Given the description of an element on the screen output the (x, y) to click on. 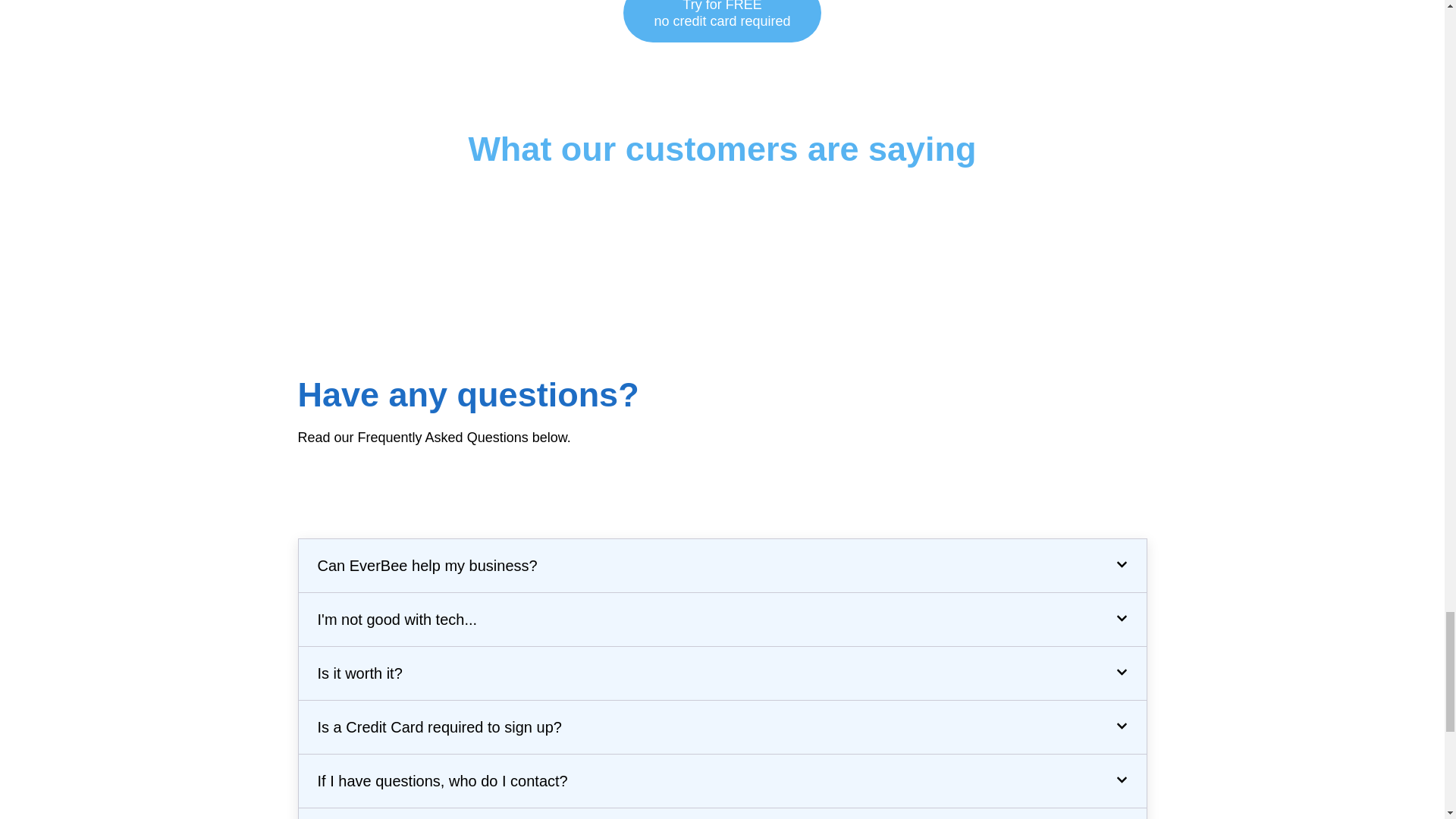
I'm not good with tech... (722, 21)
Is a Credit Card required to sign up? (397, 619)
Is it worth it? (438, 727)
Can EverBee help my business? (359, 673)
If I have questions, who do I contact? (427, 565)
